Given the description of an element on the screen output the (x, y) to click on. 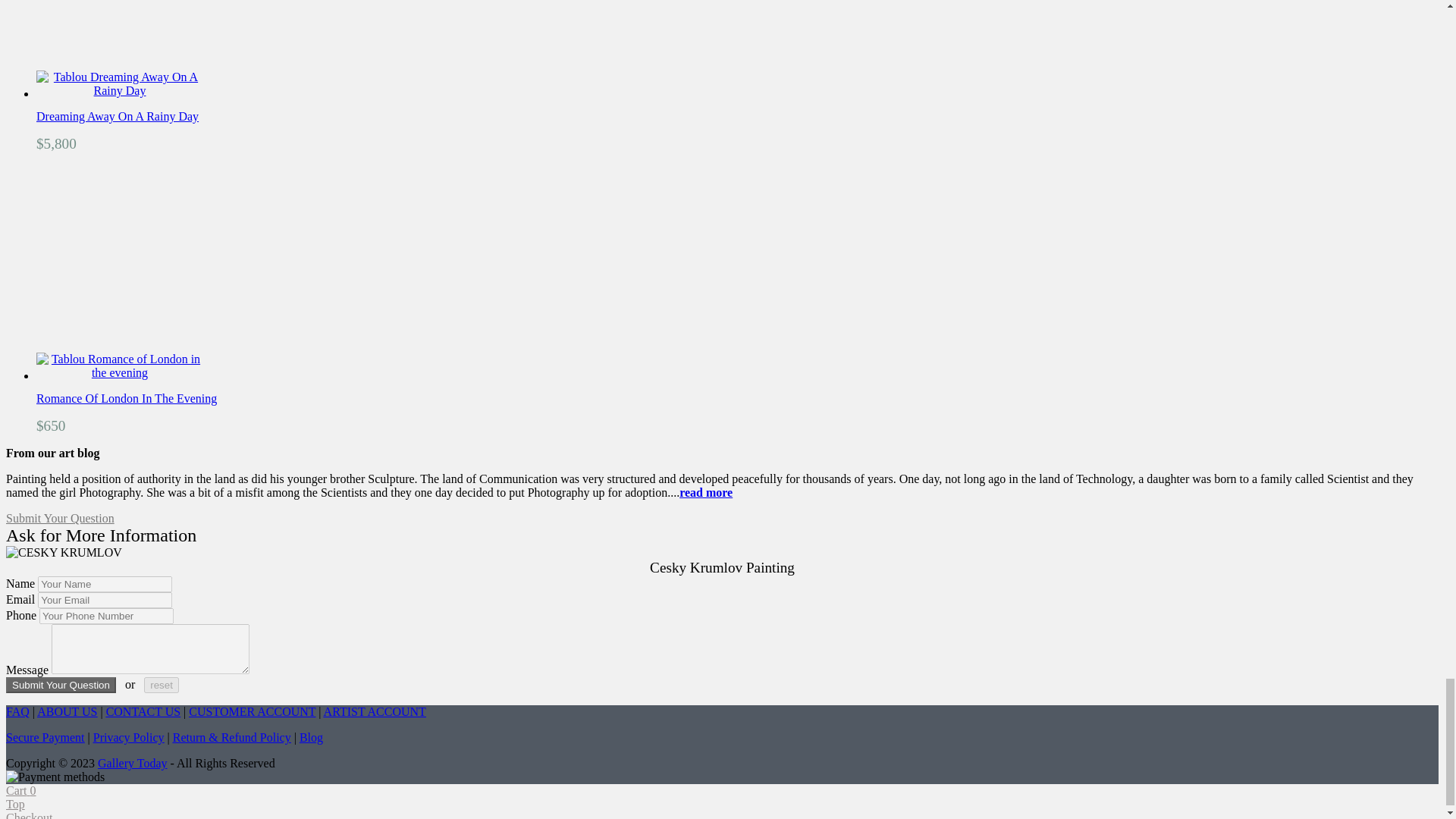
Submit Your Question (60, 684)
